Given the description of an element on the screen output the (x, y) to click on. 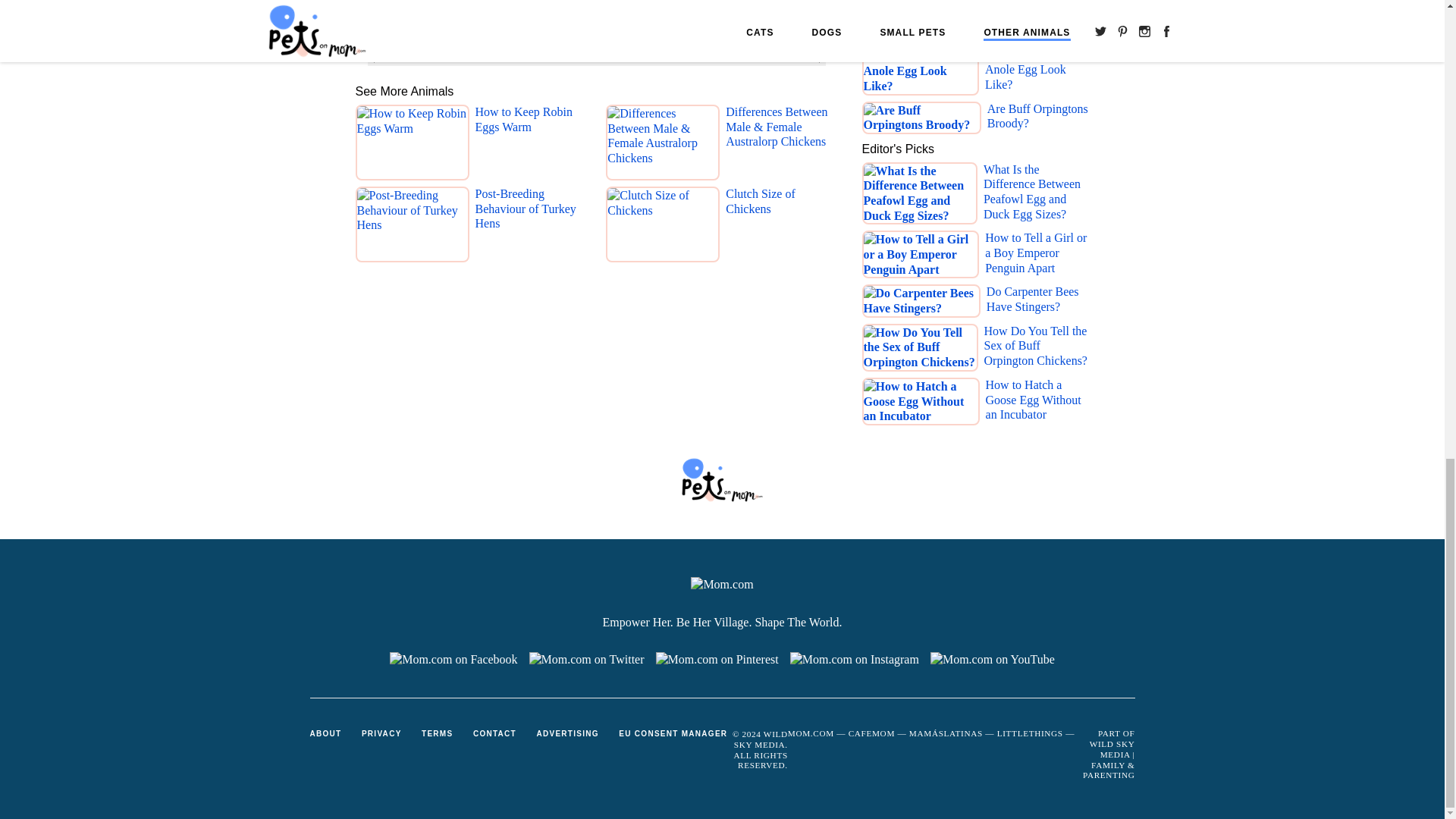
Clutch Size of Chickens (781, 227)
How to Keep Robin Eggs Warm (530, 145)
Post-Breeding Behaviour of Turkey Hens (530, 227)
